Given the description of an element on the screen output the (x, y) to click on. 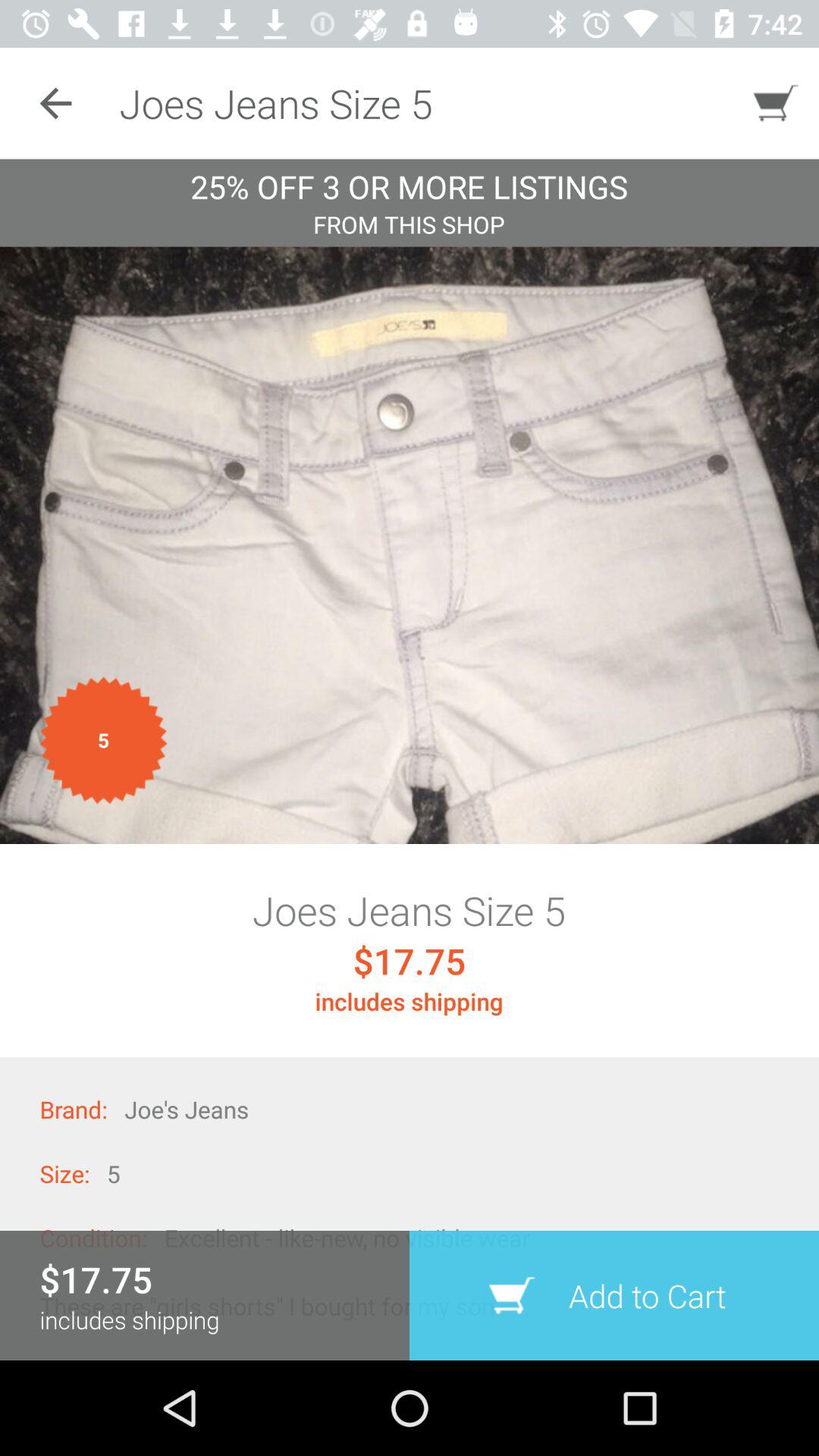
turn on the item to the right of the includes shipping (614, 1295)
